Given the description of an element on the screen output the (x, y) to click on. 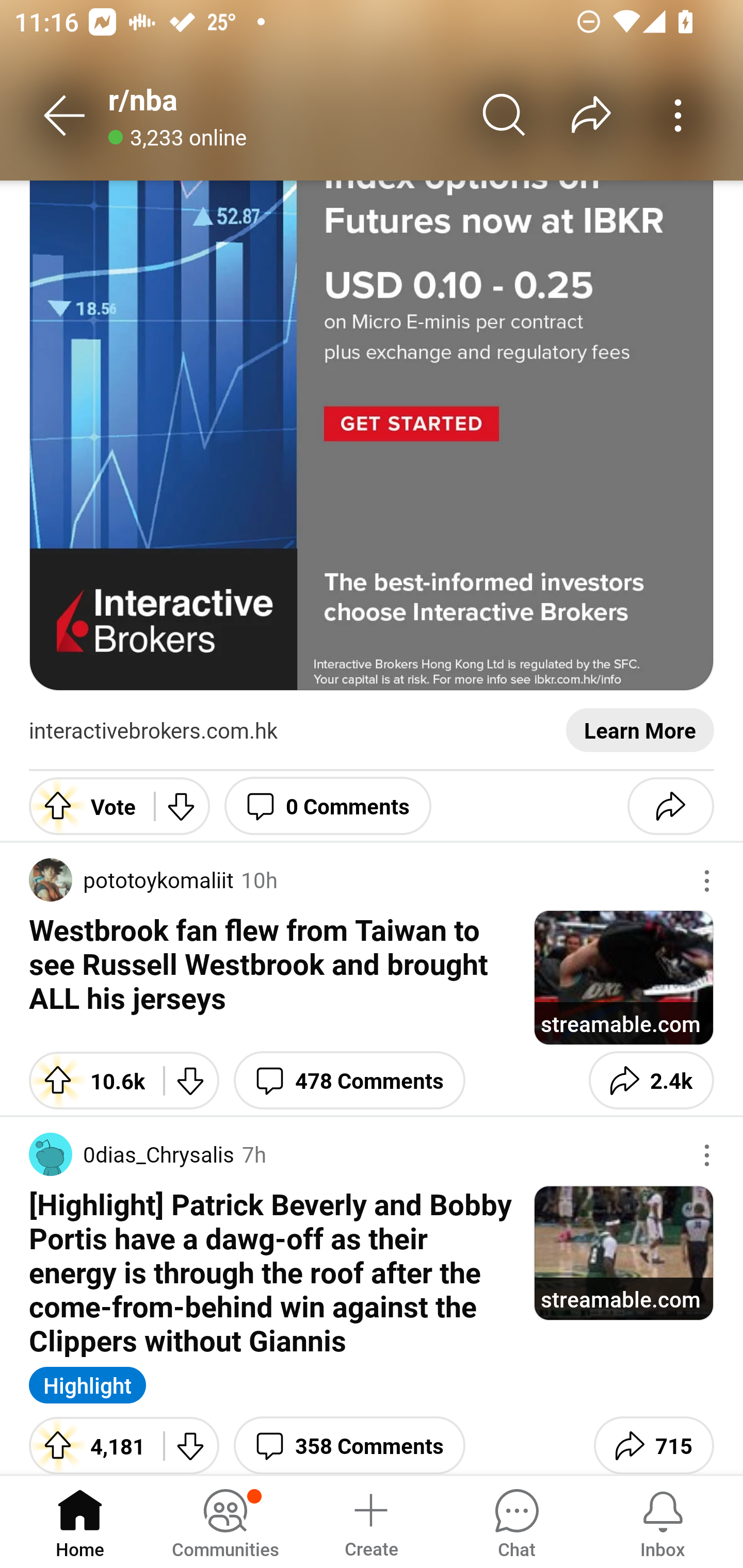
Back (64, 115)
Search r/﻿nba (504, 115)
Share r/﻿nba (591, 115)
More community actions (677, 115)
Image (371, 435)
interactivebrokers.com.hk (152, 731)
Learn More (640, 731)
Upvote Vote (83, 805)
Downvote (181, 805)
0 Comments (327, 805)
Share (670, 805)
Author pototoykomaliit (131, 880)
Thumbnail image streamable.com (623, 977)
Upvote 10.6k (88, 1079)
Downvote (191, 1079)
478 Comments (349, 1079)
Share 2.4k (651, 1079)
Author 0dias_Chrysalis (131, 1154)
Thumbnail image streamable.com (623, 1252)
Highlight (87, 1385)
Upvote 4,181 (88, 1442)
Downvote (191, 1442)
358 Comments (349, 1442)
Share 715 (653, 1442)
Home (80, 1520)
Communities, has notifications Communities (225, 1520)
Create a post Create (370, 1520)
Chat (516, 1520)
Inbox (662, 1520)
